Given the description of an element on the screen output the (x, y) to click on. 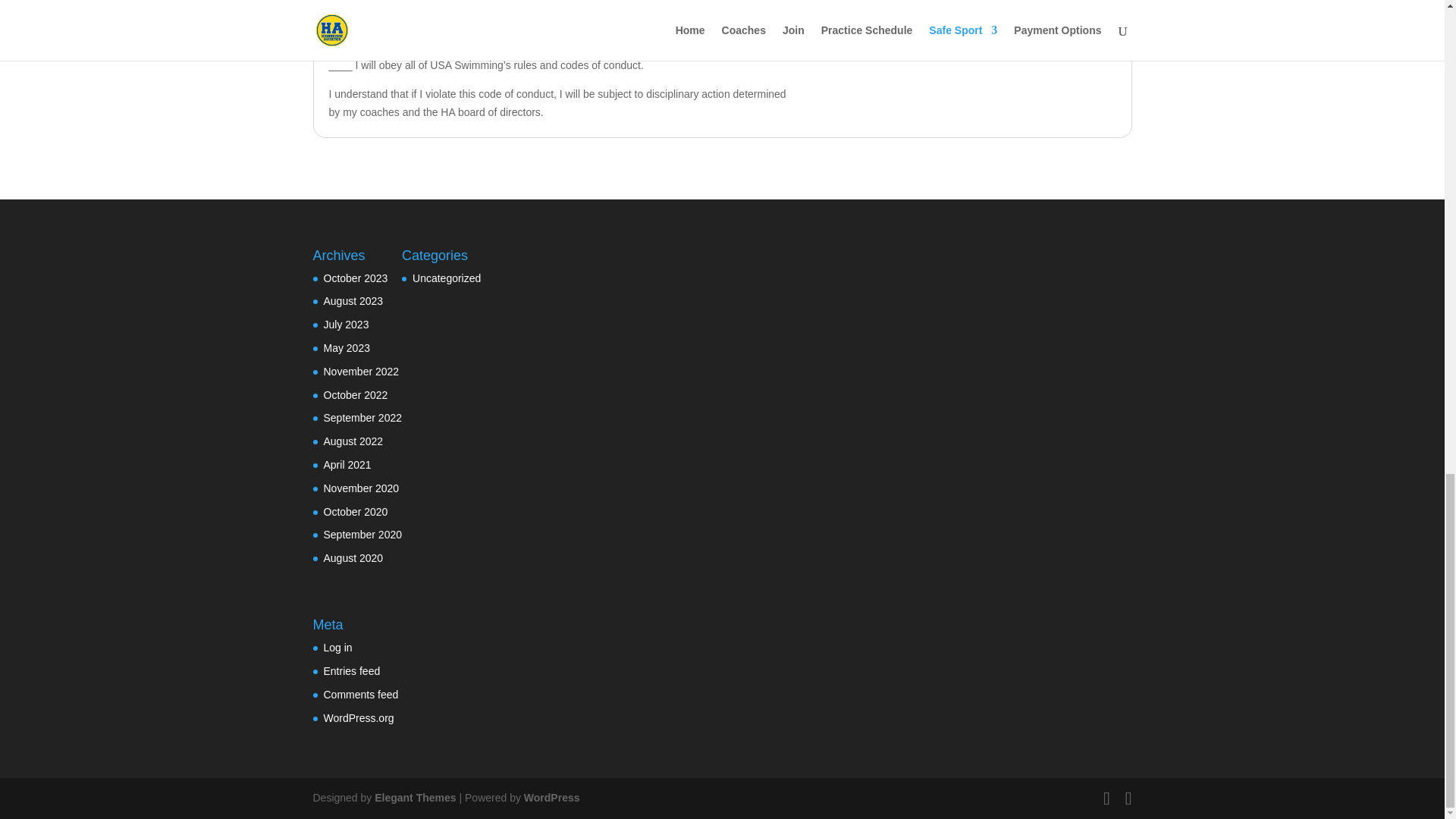
Elegant Themes (414, 797)
August 2023 (352, 300)
August 2020 (352, 558)
August 2022 (352, 440)
Premium WordPress Themes (414, 797)
October 2022 (355, 395)
September 2020 (362, 534)
July 2023 (345, 324)
Log in (337, 647)
November 2020 (360, 488)
